Given the description of an element on the screen output the (x, y) to click on. 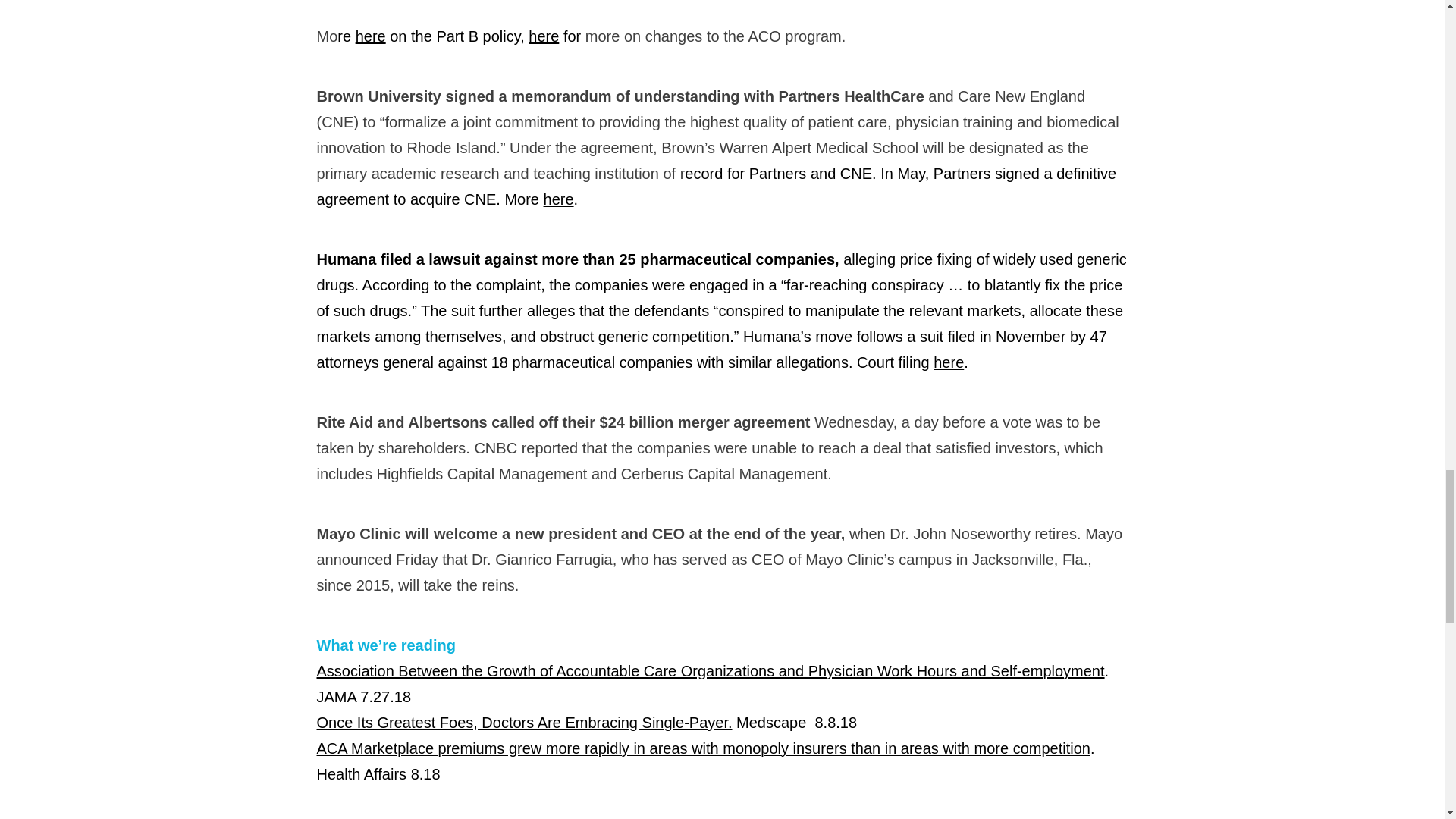
here (370, 36)
Once Its Greatest Foes, Doctors Are Embracing Single-Payer. (524, 722)
here (543, 36)
here (558, 199)
here (948, 362)
